Given the description of an element on the screen output the (x, y) to click on. 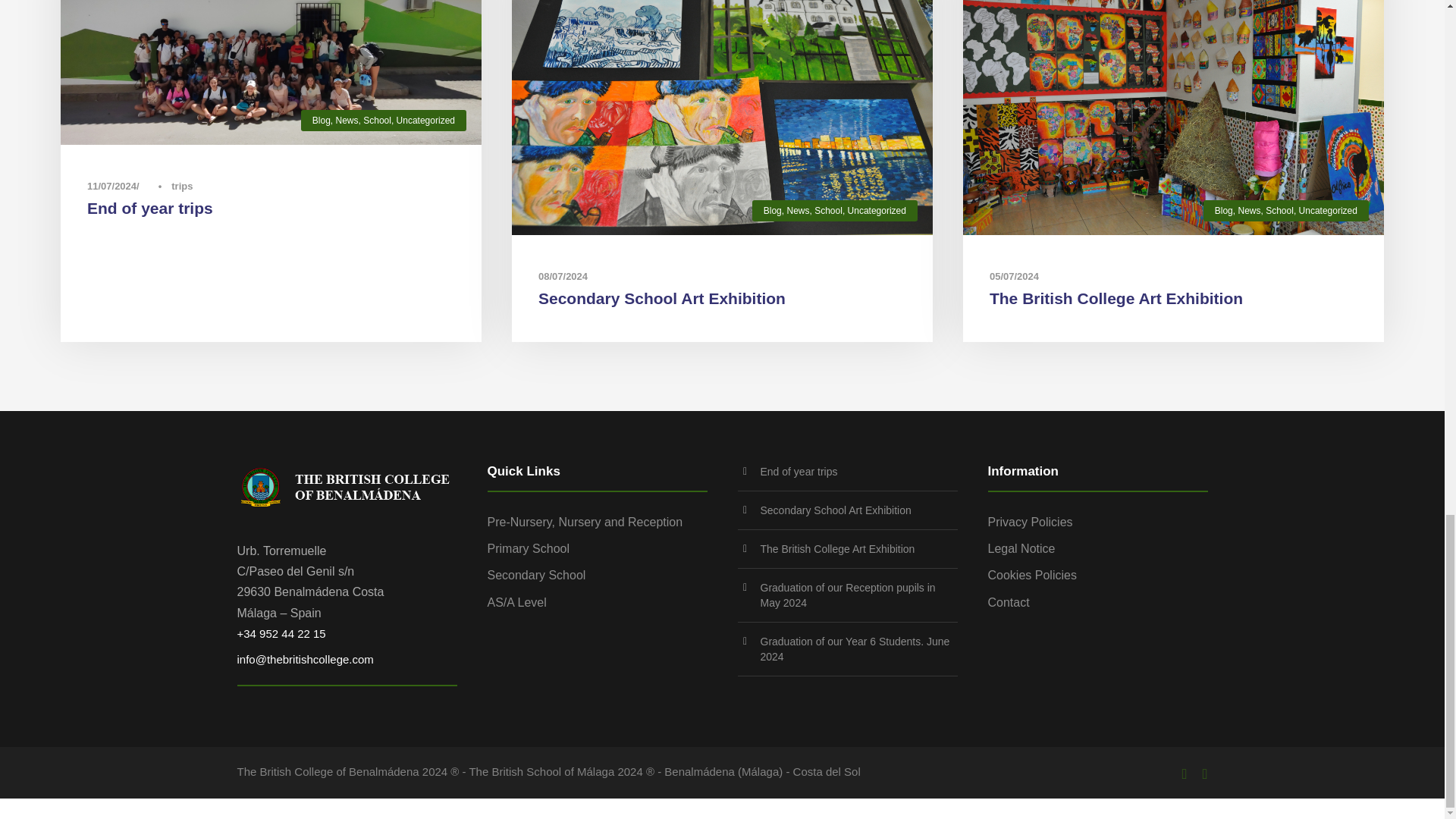
linkedin (1185, 774)
skype (1205, 774)
